Given the description of an element on the screen output the (x, y) to click on. 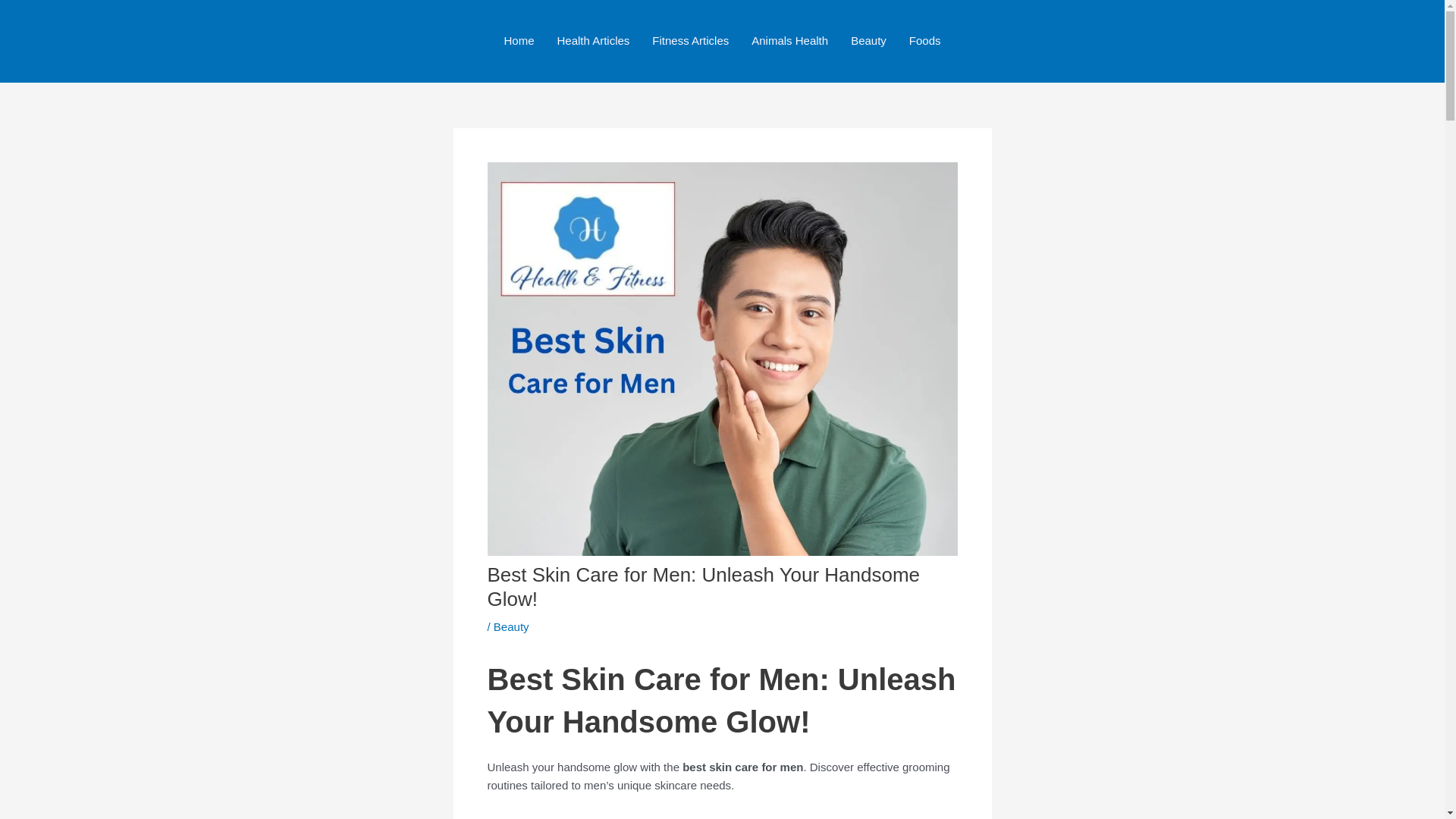
Beauty (869, 40)
Health Articles (592, 40)
Beauty (511, 626)
Foods (925, 40)
Home (518, 40)
Animals Health (789, 40)
Fitness Articles (689, 40)
